Given the description of an element on the screen output the (x, y) to click on. 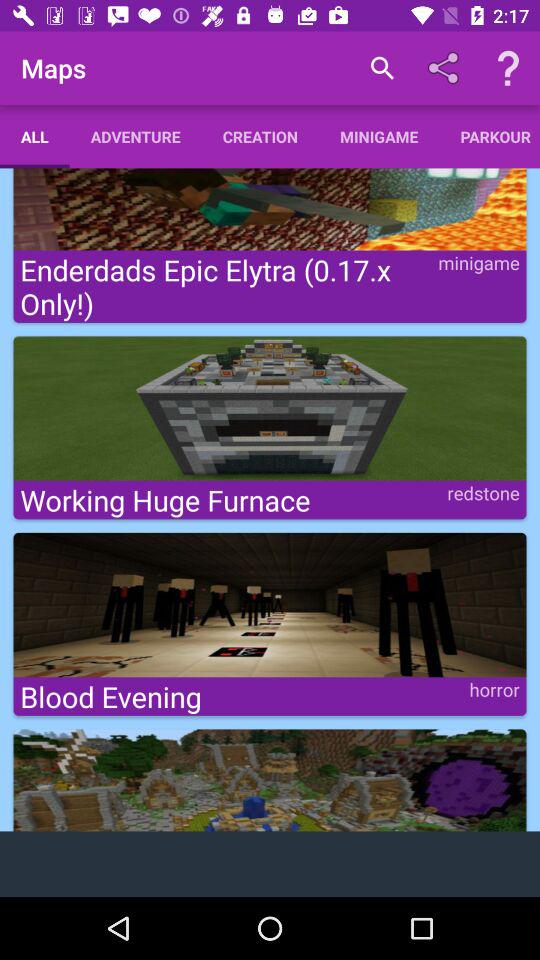
turn on the creation (260, 136)
